Given the description of an element on the screen output the (x, y) to click on. 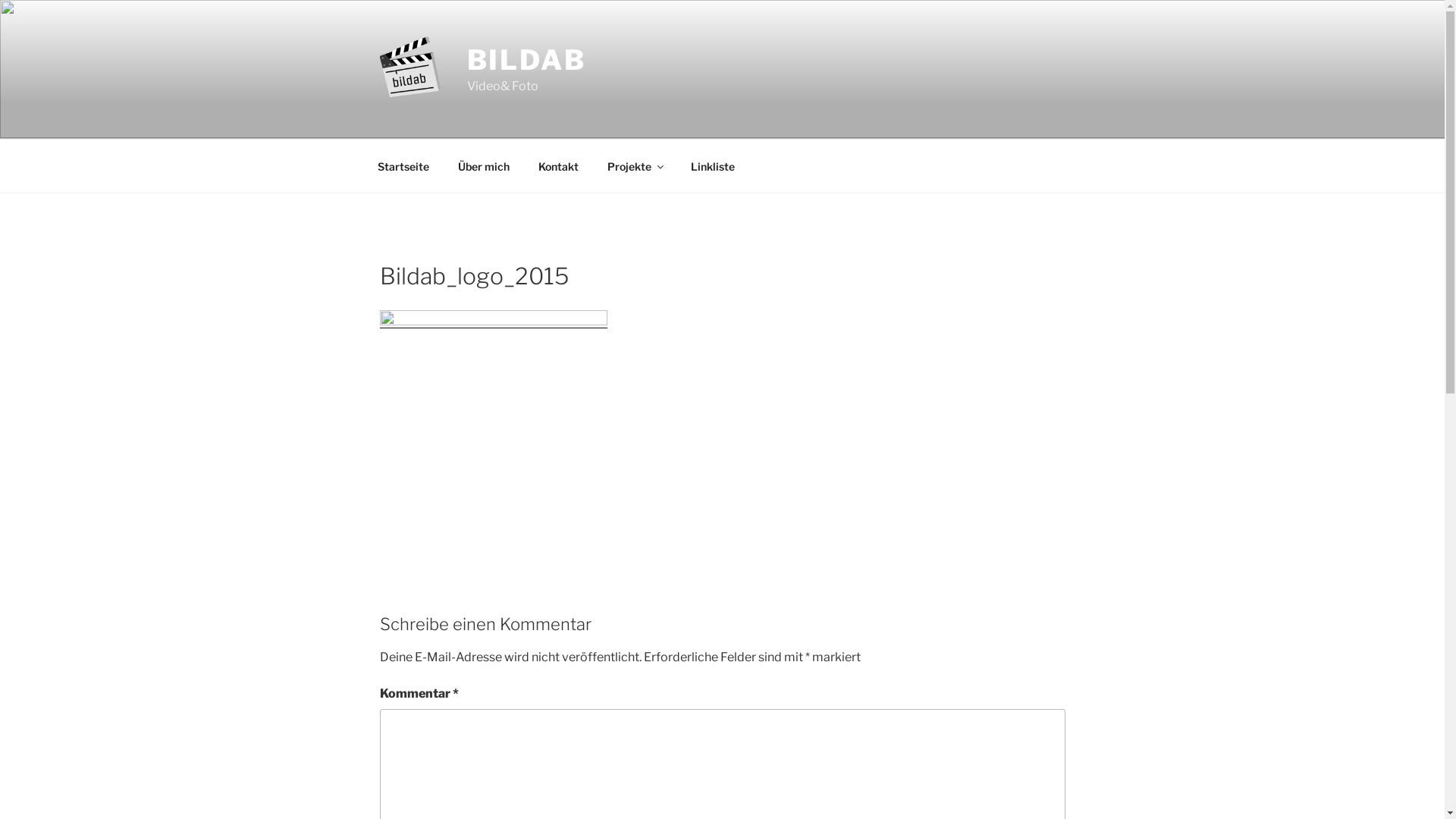
Kontakt Element type: text (557, 165)
BILDAB Element type: text (526, 59)
Projekte Element type: text (634, 165)
Startseite Element type: text (403, 165)
Linkliste Element type: text (712, 165)
